Given the description of an element on the screen output the (x, y) to click on. 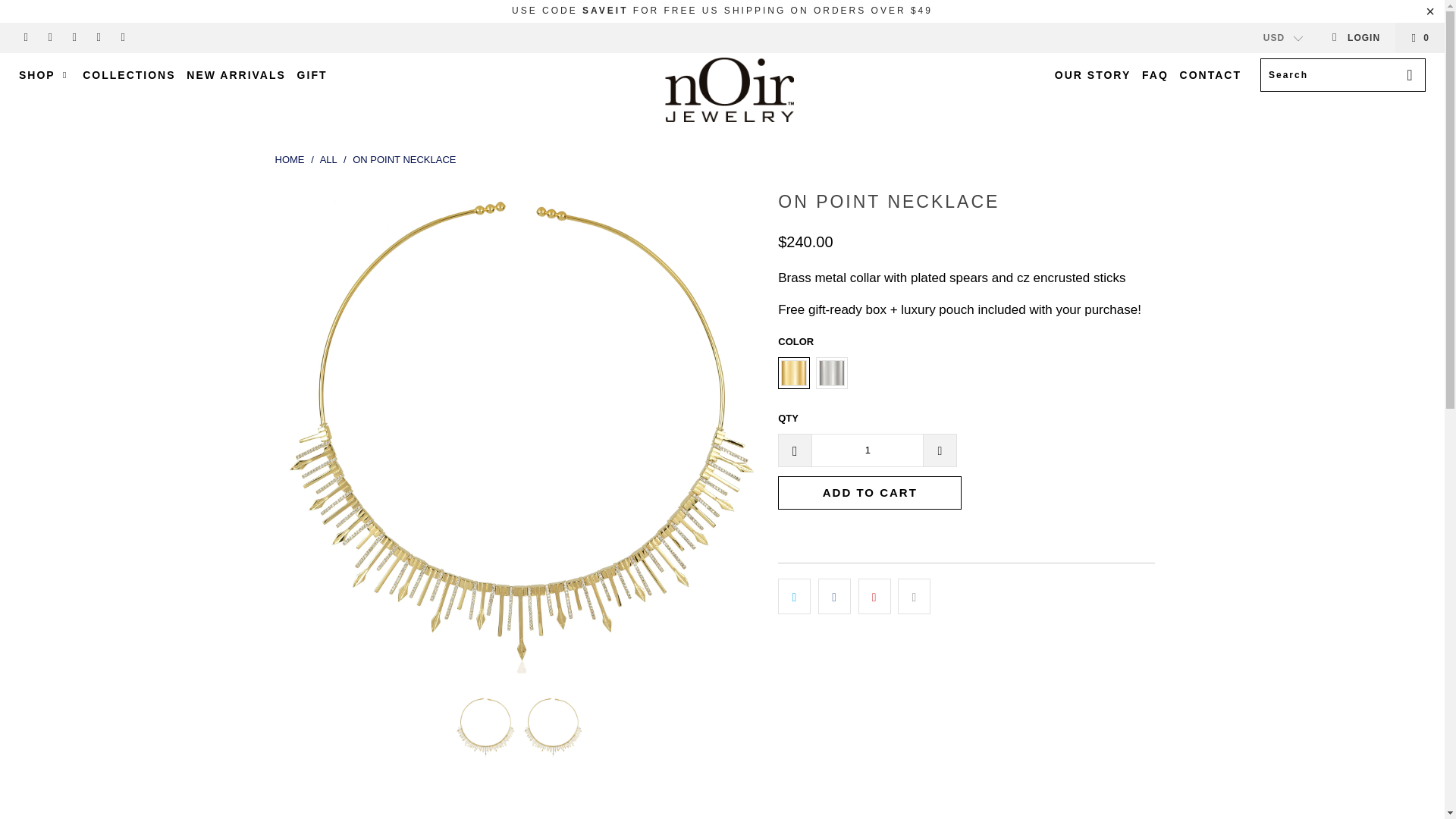
nOir Jewelry on Twitter (25, 37)
All (329, 159)
1 (866, 450)
nOir Jewelry on Pinterest (73, 37)
My Account  (1355, 37)
Email this to a friend (914, 596)
Share this on Pinterest (875, 596)
nOir Jewelry (729, 89)
Email nOir Jewelry (122, 37)
Share this on Twitter (793, 596)
